Given the description of an element on the screen output the (x, y) to click on. 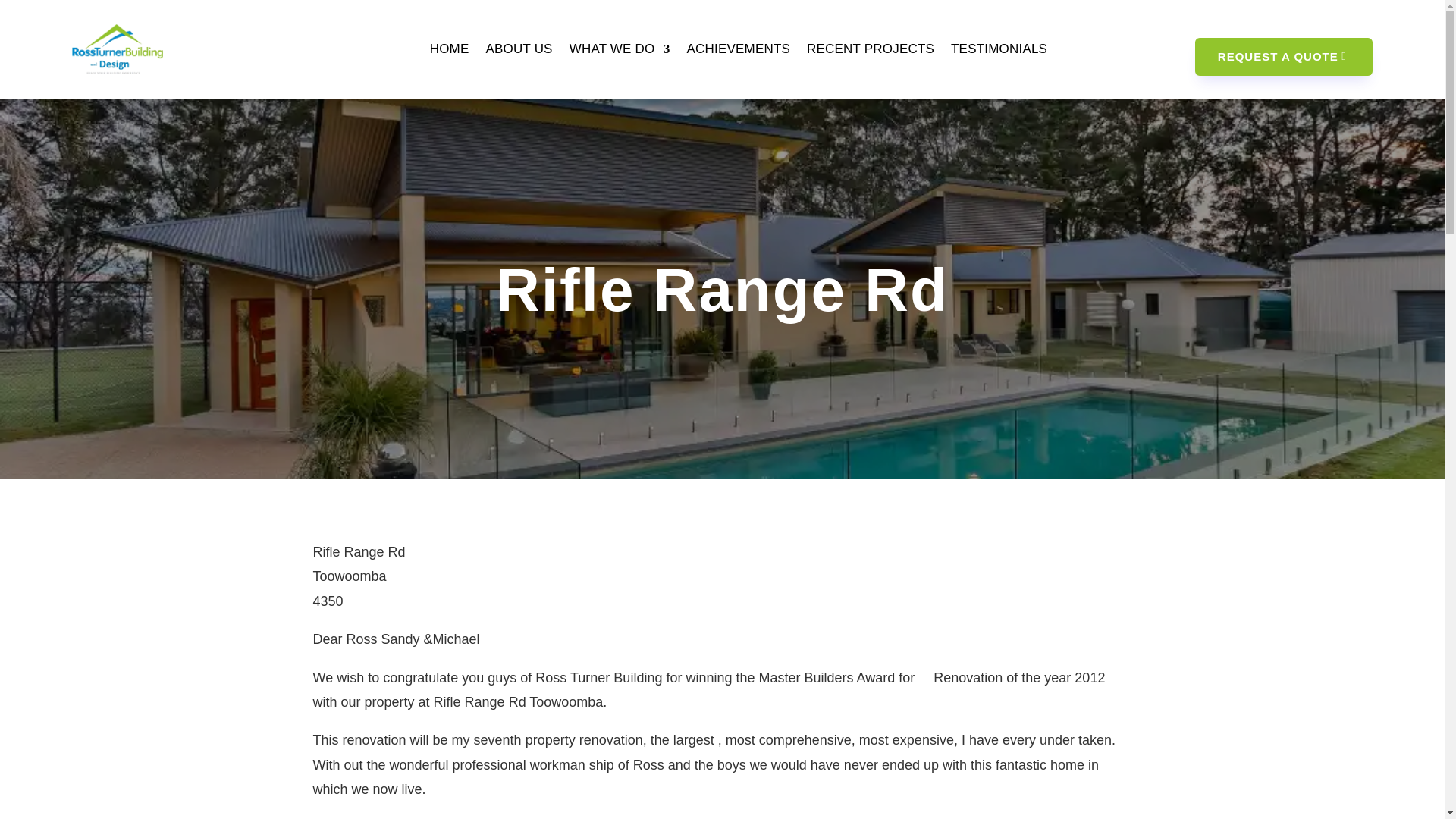
WHAT WE DO (619, 48)
TESTIMONIALS (998, 48)
RECENT PROJECTS (870, 48)
ABOUT US (517, 48)
REQUEST A QUOTE (1284, 56)
ACHIEVEMENTS (737, 48)
